Given the description of an element on the screen output the (x, y) to click on. 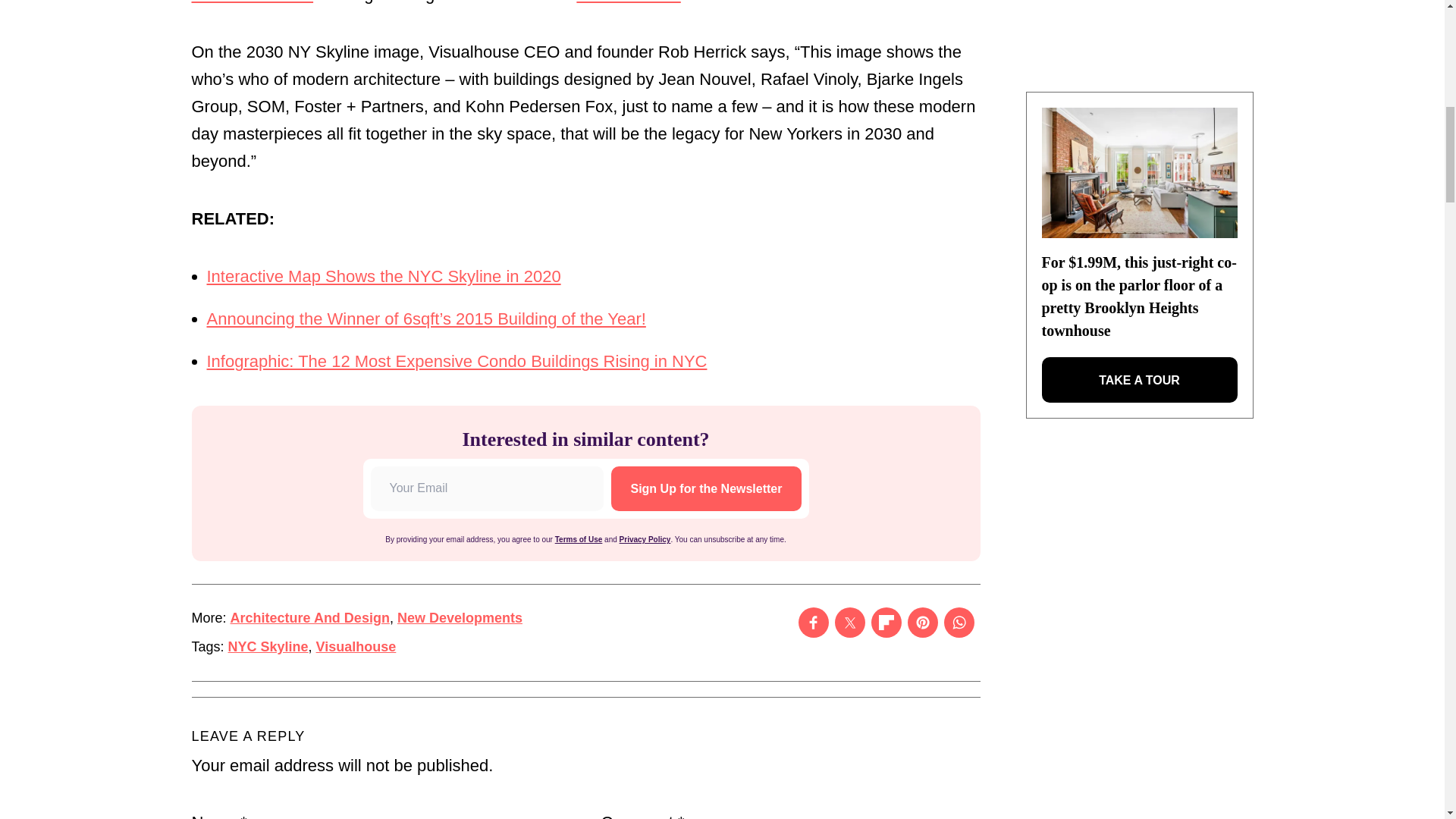
Hudson Yards (627, 2)
Architecture And Design (310, 617)
Sign Up for the Newsletter (705, 488)
Sign Up for the Newsletter (705, 488)
Terms of Use (578, 539)
Privacy Policy (645, 539)
Visualhouse (355, 646)
NYC Skyline (268, 646)
New Developments (459, 617)
